Given the description of an element on the screen output the (x, y) to click on. 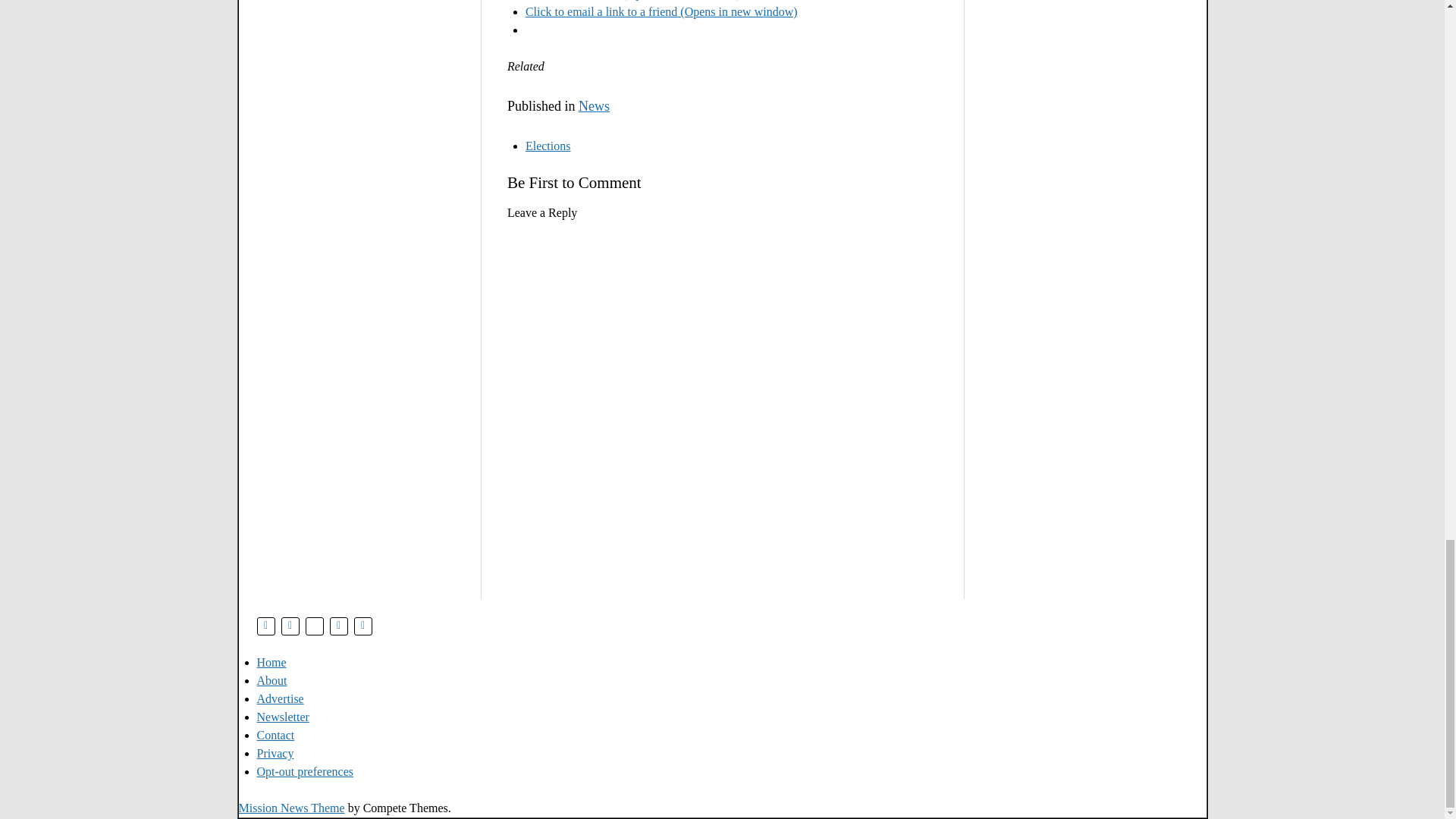
View all posts in News (594, 105)
Elections (547, 145)
News (594, 105)
View all posts tagged Elections (547, 145)
Click to email a link to a friend (661, 11)
